Given the description of an element on the screen output the (x, y) to click on. 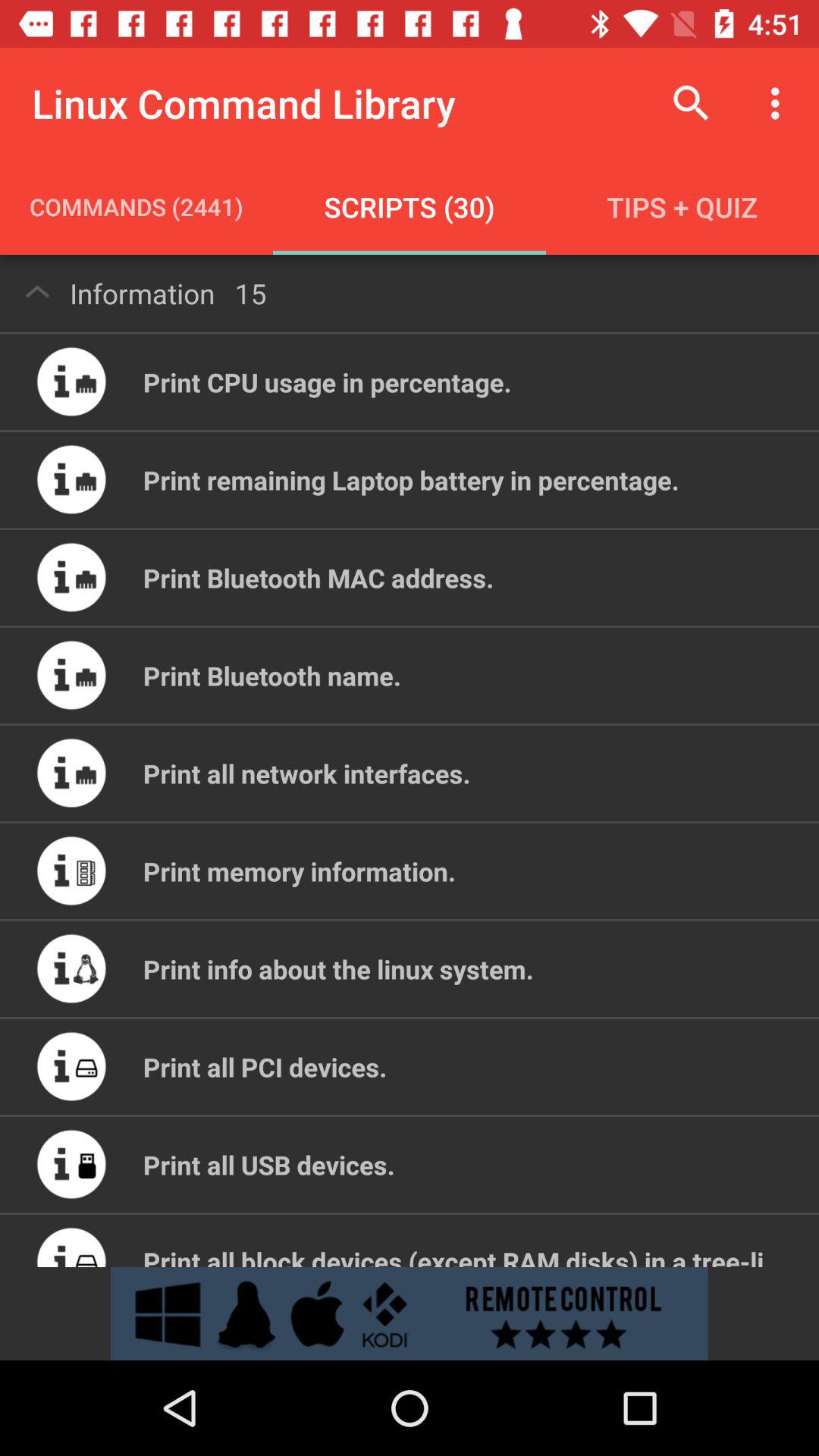
turn on item to the right of the linux command library icon (691, 103)
